Given the description of an element on the screen output the (x, y) to click on. 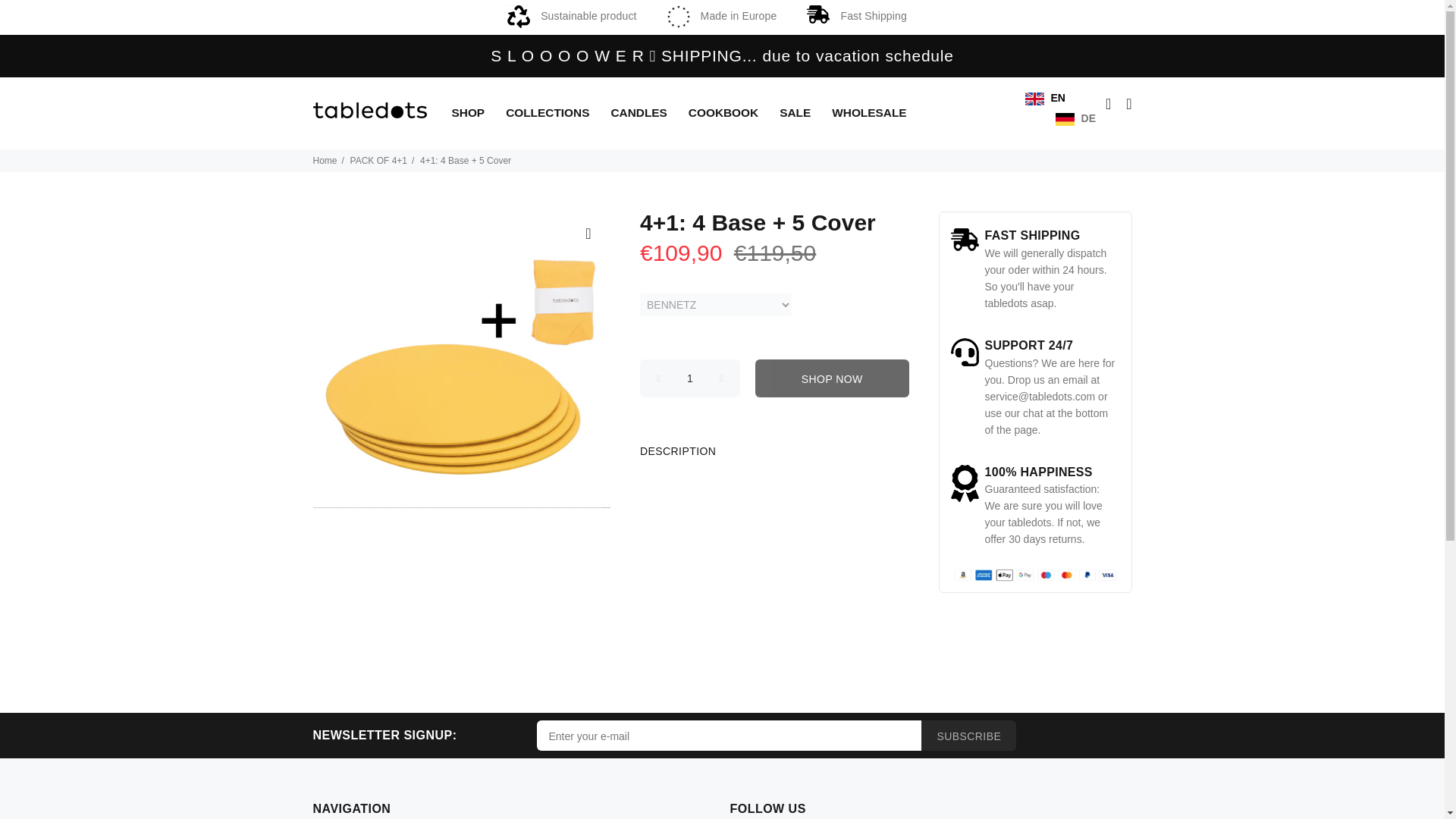
COLLECTIONS (548, 113)
1 (689, 378)
CANDLES (639, 113)
SALE (796, 113)
Sustainable product (571, 15)
COOKBOOK (724, 113)
SHOP (469, 113)
Made in Europe (721, 15)
Fast Shipping (855, 15)
WHOLESALE (863, 113)
